Given the description of an element on the screen output the (x, y) to click on. 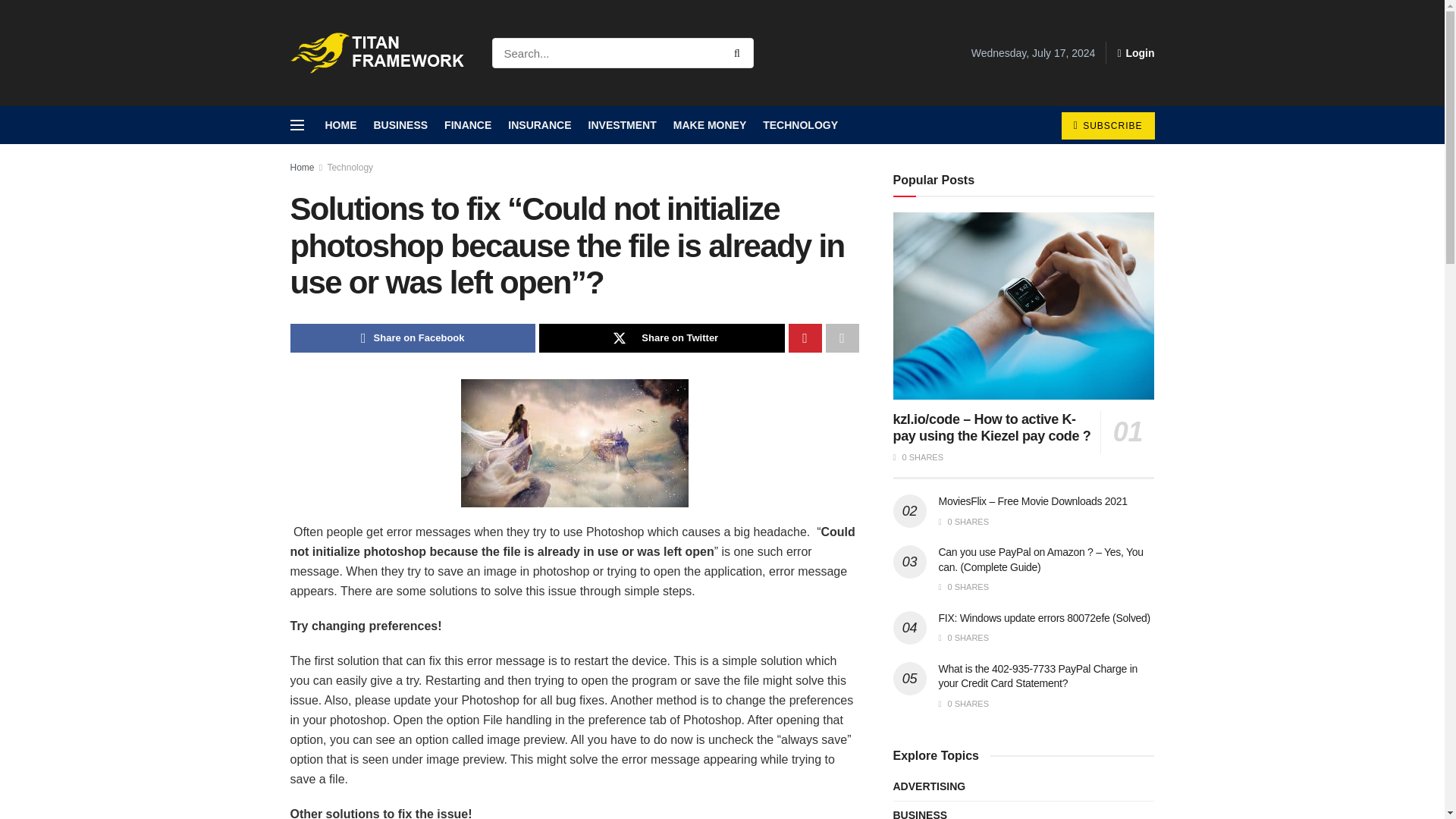
FINANCE (468, 125)
Home (301, 167)
SUBSCRIBE (1107, 125)
MAKE MONEY (708, 125)
Login (1135, 53)
BUSINESS (400, 125)
TECHNOLOGY (800, 125)
HOME (340, 125)
Technology (349, 167)
Share on Twitter (661, 337)
INVESTMENT (622, 125)
Share on Facebook (412, 337)
INSURANCE (539, 125)
